Given the description of an element on the screen output the (x, y) to click on. 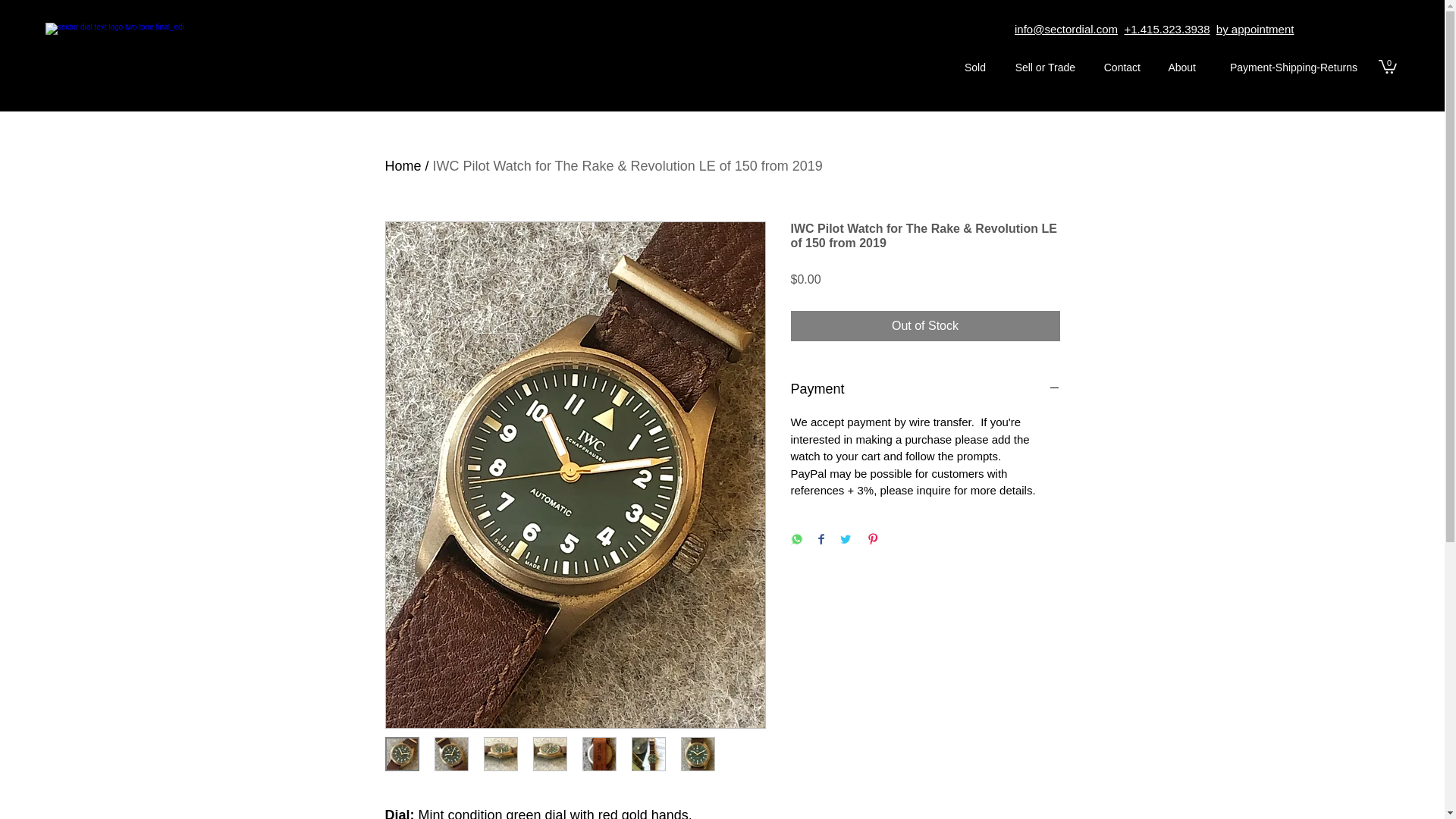
Payment (924, 389)
Contact (1115, 67)
Sold (968, 67)
by appointment (1254, 29)
Out of Stock (924, 326)
Payment-Shipping-Returns (1284, 67)
Sell or Trade (1037, 67)
Home (403, 165)
0 (1387, 65)
About (1176, 67)
0 (1387, 65)
